Given the description of an element on the screen output the (x, y) to click on. 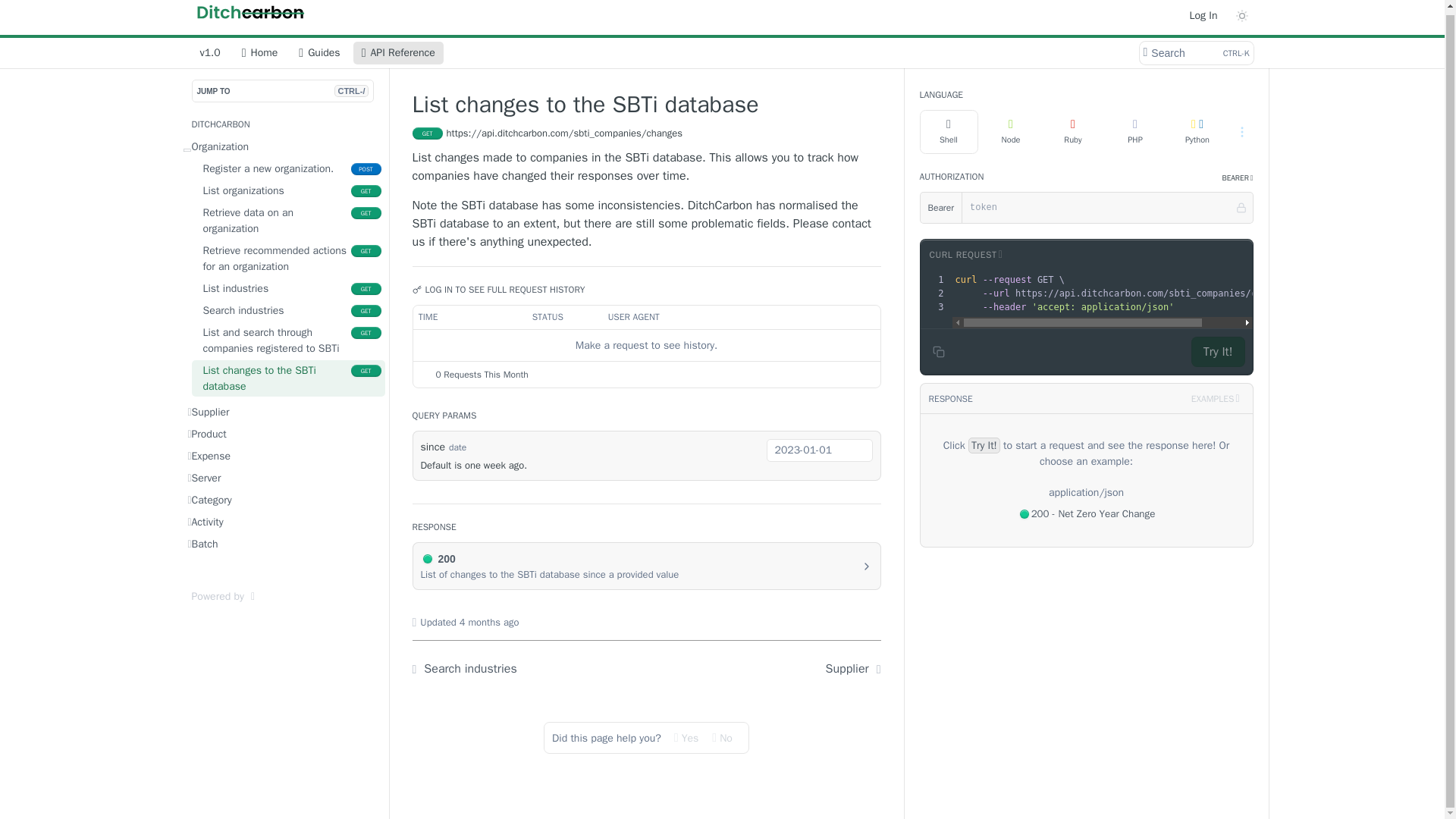
Organization (282, 146)
Server (282, 477)
Product (1195, 52)
API Reference (282, 434)
Expense (287, 340)
Guides (398, 52)
Supplier (287, 288)
Log In (282, 455)
Home (287, 258)
